Given the description of an element on the screen output the (x, y) to click on. 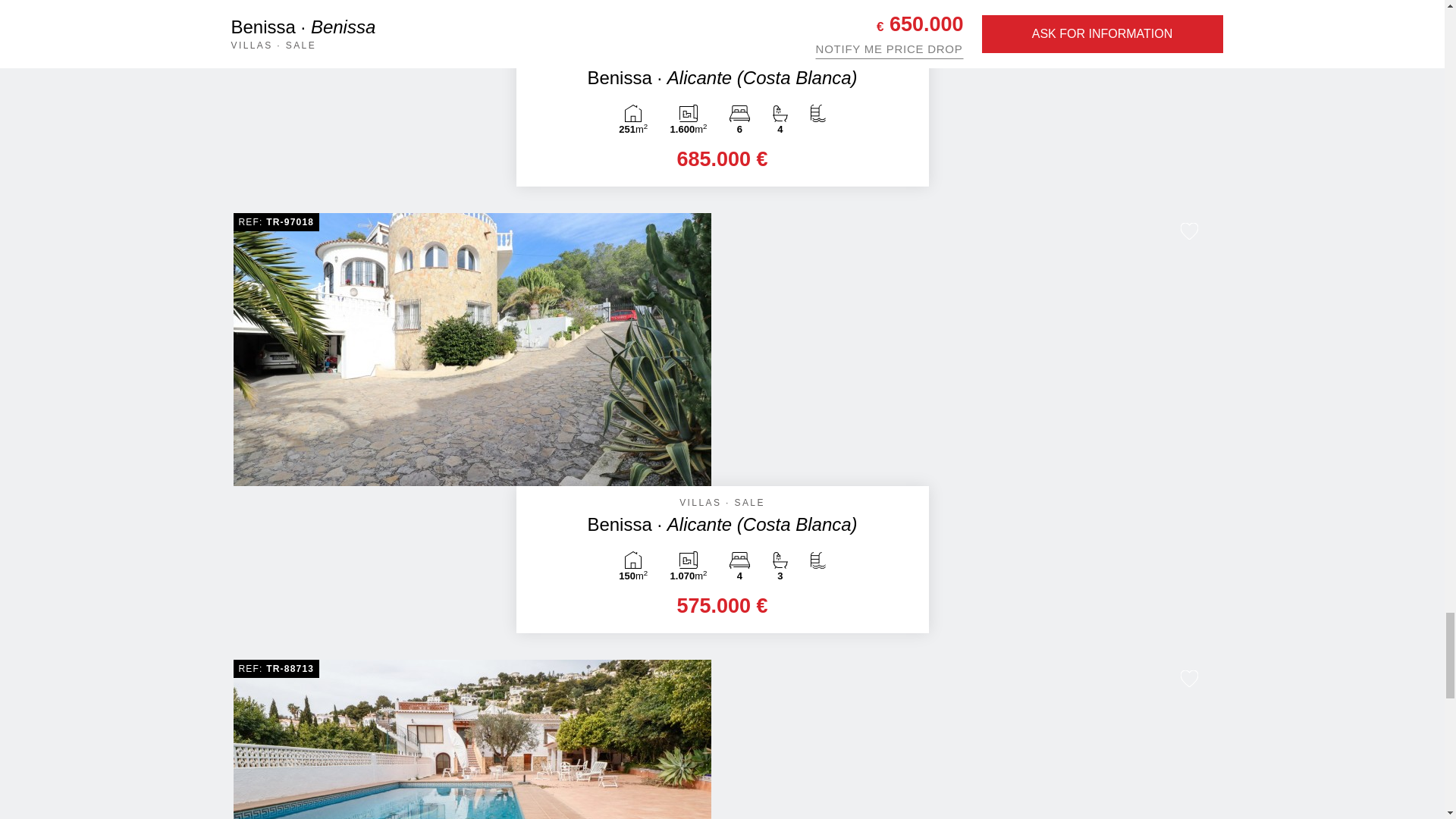
Villas - Sale - Benissa - Benissa (471, 19)
